Given the description of an element on the screen output the (x, y) to click on. 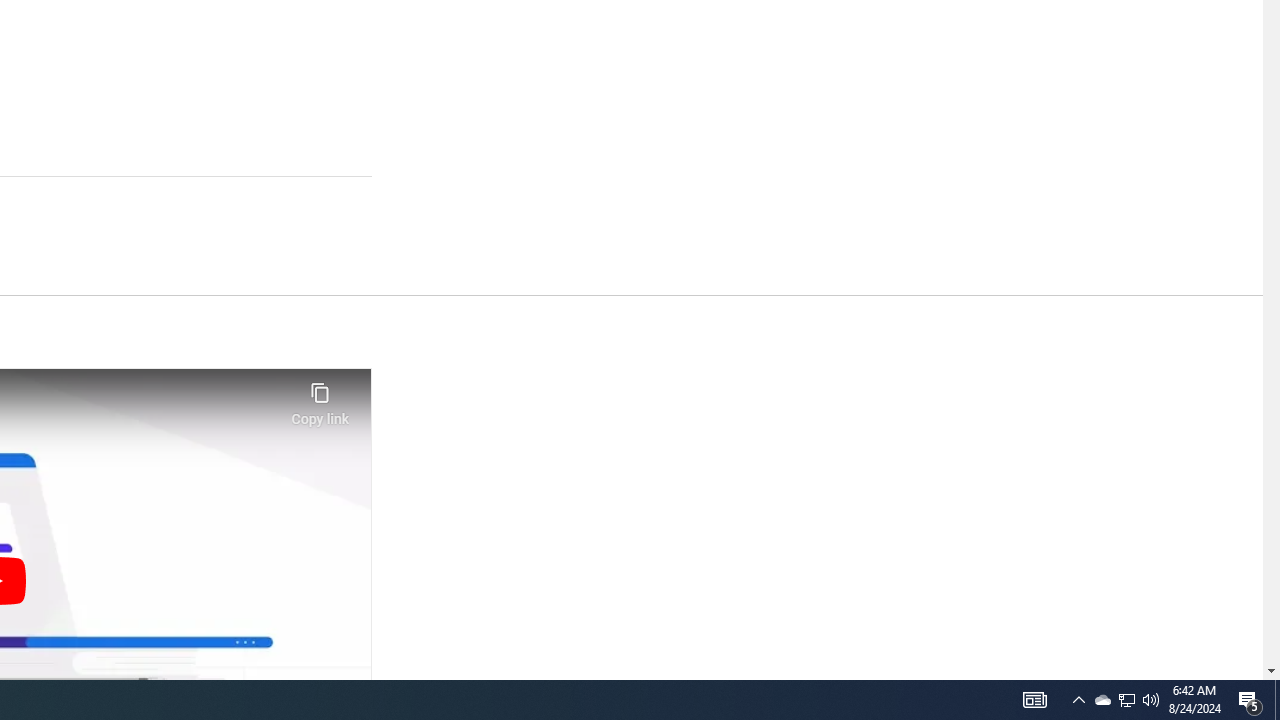
Copy link (319, 398)
